Given the description of an element on the screen output the (x, y) to click on. 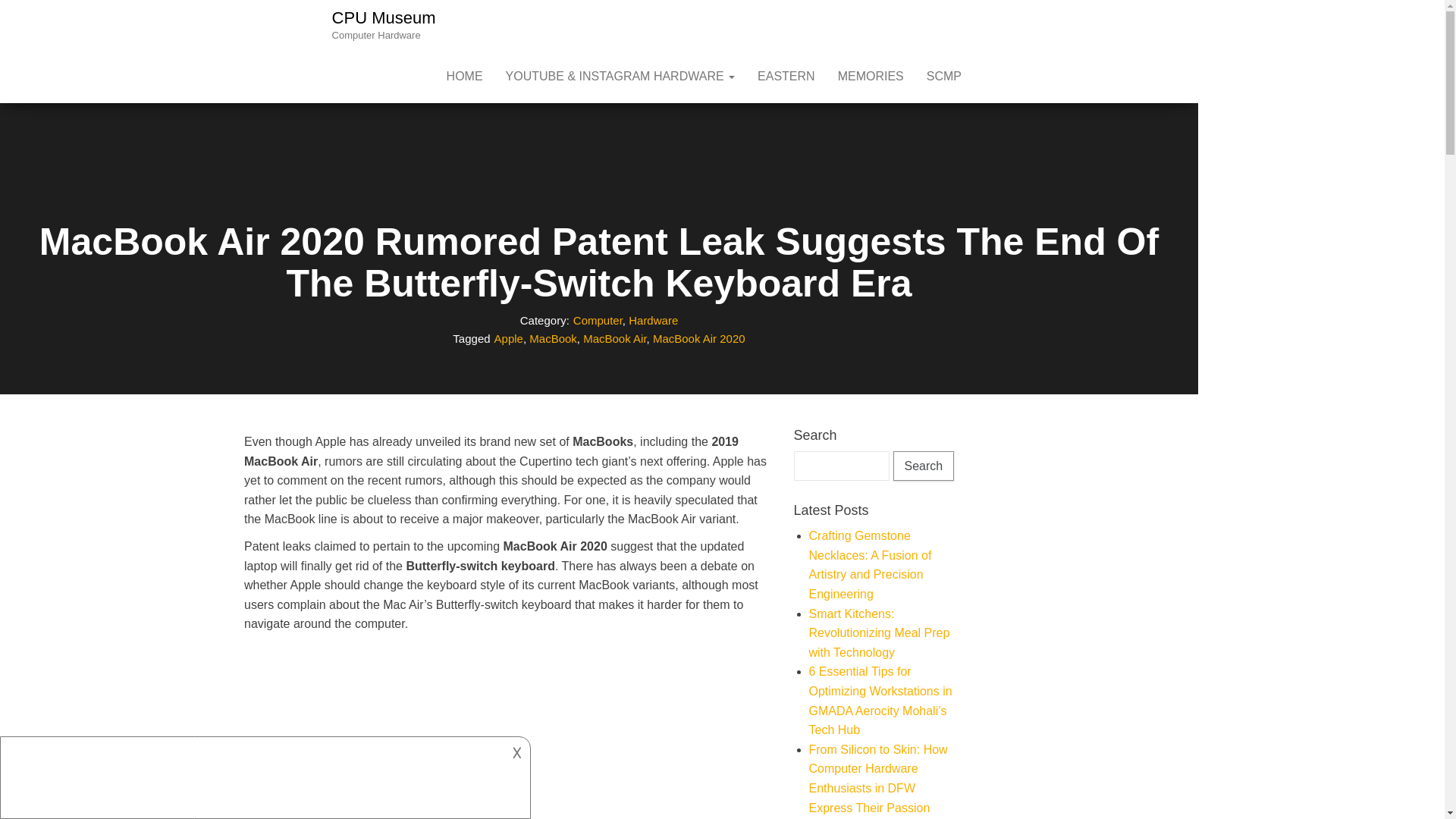
HOME (465, 76)
Apple (508, 338)
Search (923, 466)
CPU Museum (383, 17)
MacBook Air (614, 338)
SCMP (943, 76)
Search (923, 466)
EASTERN (786, 76)
MacBook (552, 338)
Hardware (653, 319)
Computer (598, 319)
Home (465, 76)
MEMORIES (871, 76)
